Given the description of an element on the screen output the (x, y) to click on. 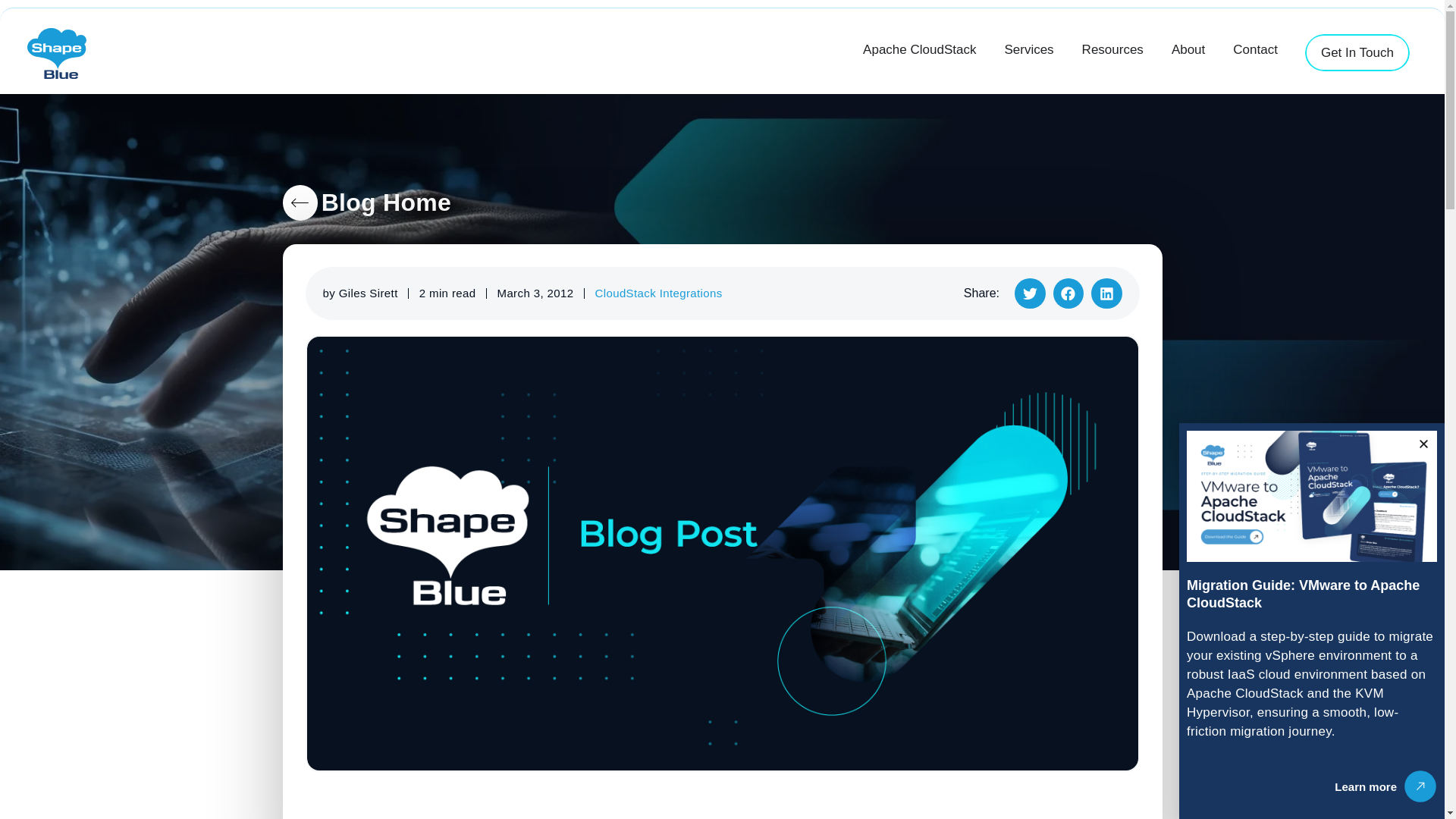
Apache CloudStack (919, 49)
Resources (1111, 49)
Get In Touch (1356, 53)
